Given the description of an element on the screen output the (x, y) to click on. 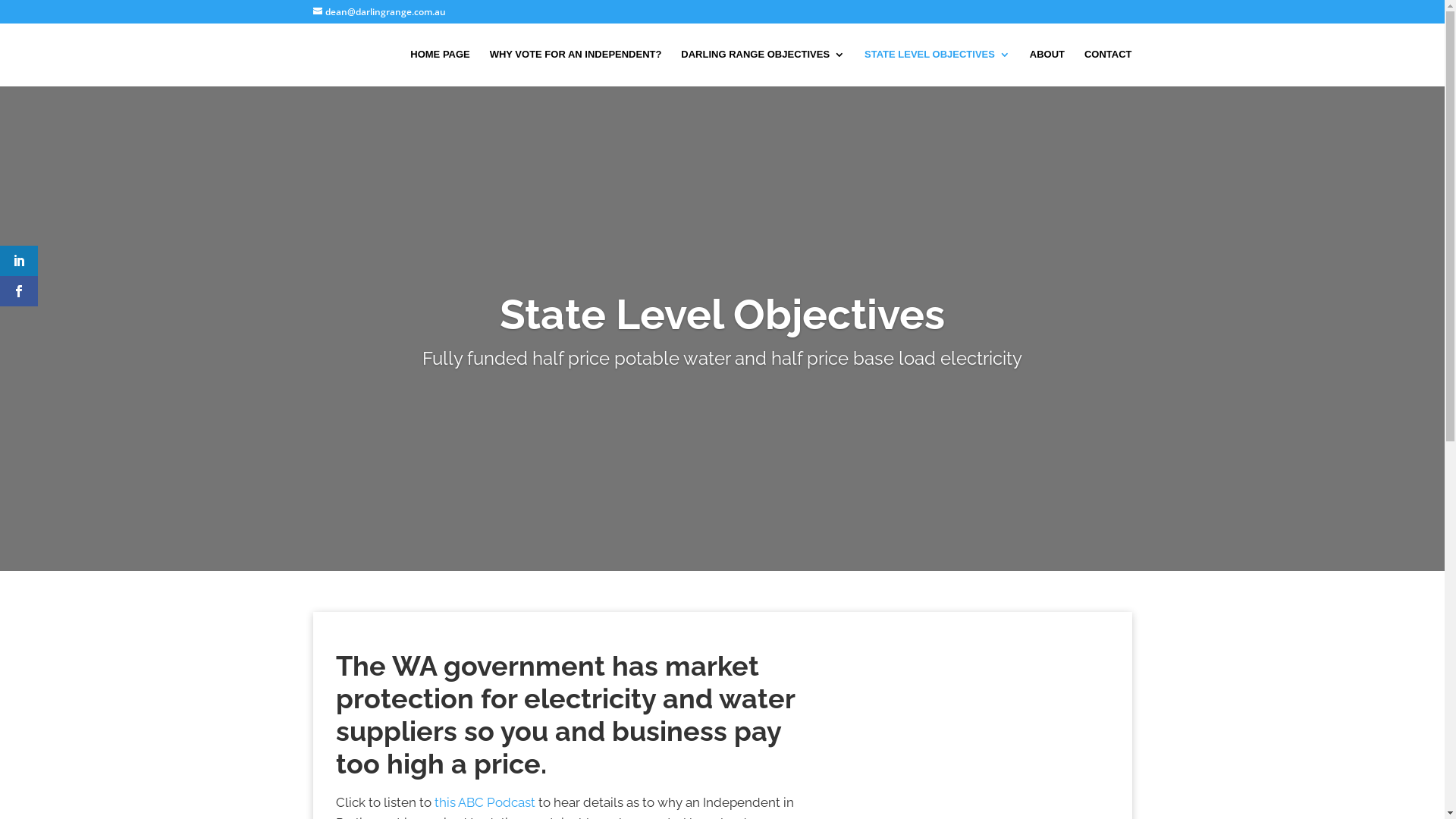
HOME PAGE Element type: text (440, 67)
ABOUT Element type: text (1046, 67)
DARLING RANGE OBJECTIVES Element type: text (762, 67)
CONTACT Element type: text (1108, 67)
STATE LEVEL OBJECTIVES Element type: text (937, 67)
WHY VOTE FOR AN INDEPENDENT? Element type: text (575, 67)
dean@darlingrange.com.au Element type: text (378, 11)
this ABC Podcast Element type: text (483, 801)
